Given the description of an element on the screen output the (x, y) to click on. 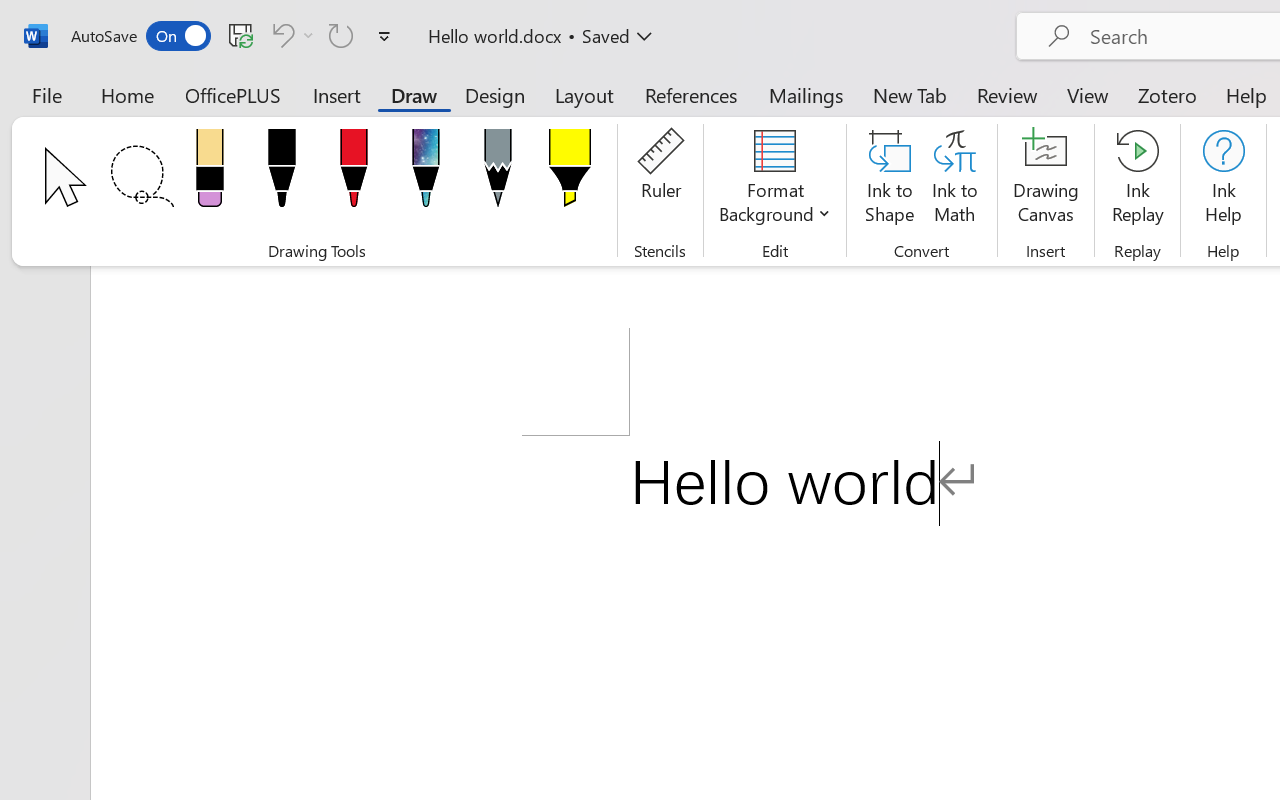
Quick Access Toolbar (233, 36)
Drawing Canvas (1045, 179)
Customize Quick Access Toolbar (384, 35)
Insert (337, 94)
Review (1007, 94)
Highlighter: Yellow, 6 mm (569, 173)
Can't Undo (280, 35)
Can't Undo (290, 35)
Pen: Red, 0.5 mm (353, 173)
Ink to Shape (889, 179)
File Tab (46, 94)
